Given the description of an element on the screen output the (x, y) to click on. 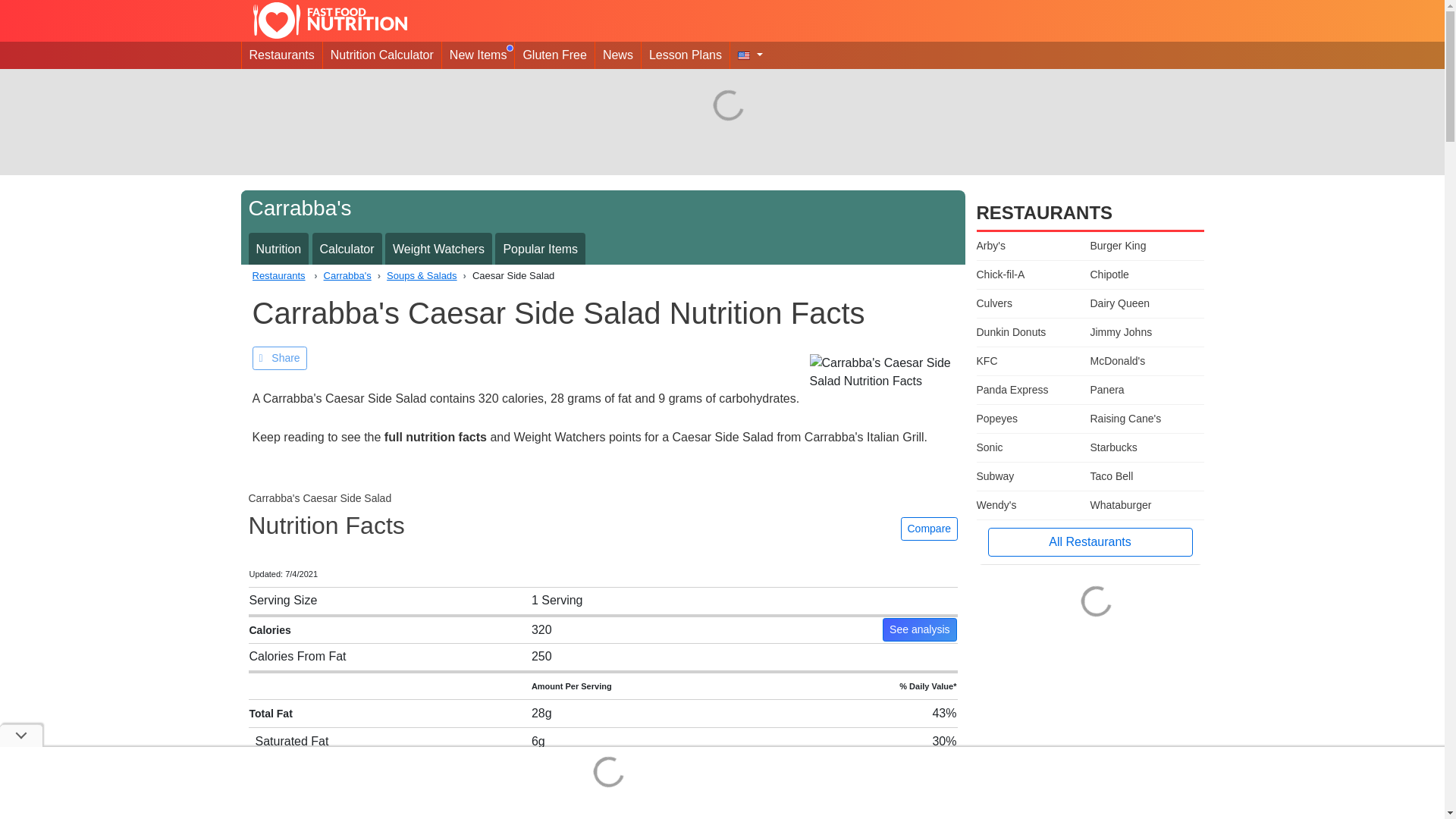
Serving Size (282, 599)
New Items (478, 54)
Saturated Fat (291, 740)
Carrabba's Nutrition Calculator (347, 249)
Trans Fat (279, 768)
Weight Watchers (438, 249)
Fast Food Nutrition Lesson Plans (685, 54)
Calories From Fat (297, 656)
Nutrition Calculator Weight Watchers Popular Items (603, 245)
Calculator (347, 249)
